Given the description of an element on the screen output the (x, y) to click on. 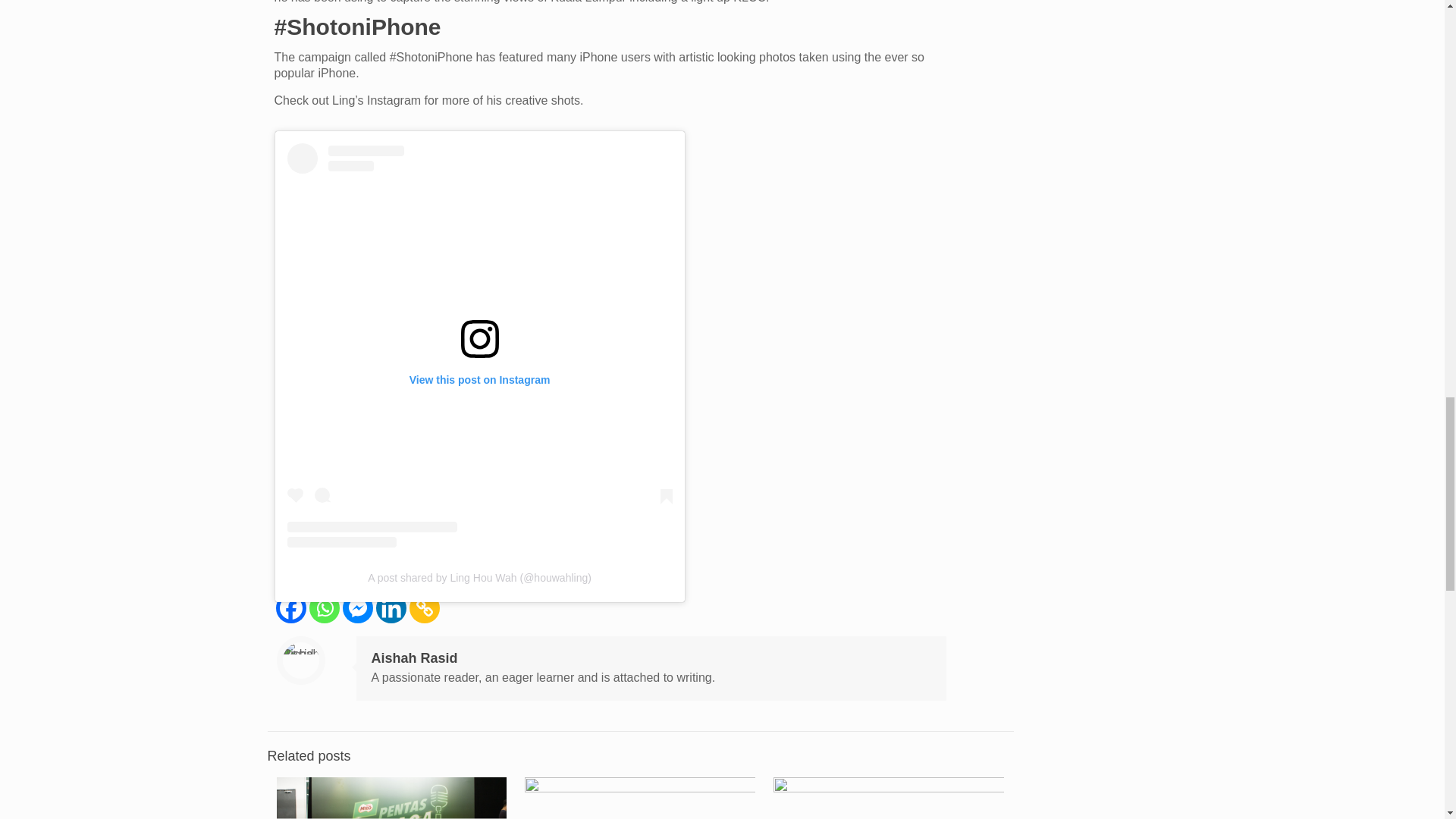
Aishah Rasid (414, 657)
Whatsapp (323, 607)
Copy Link (424, 607)
Facebook (290, 607)
Linkedin (390, 607)
